Given the description of an element on the screen output the (x, y) to click on. 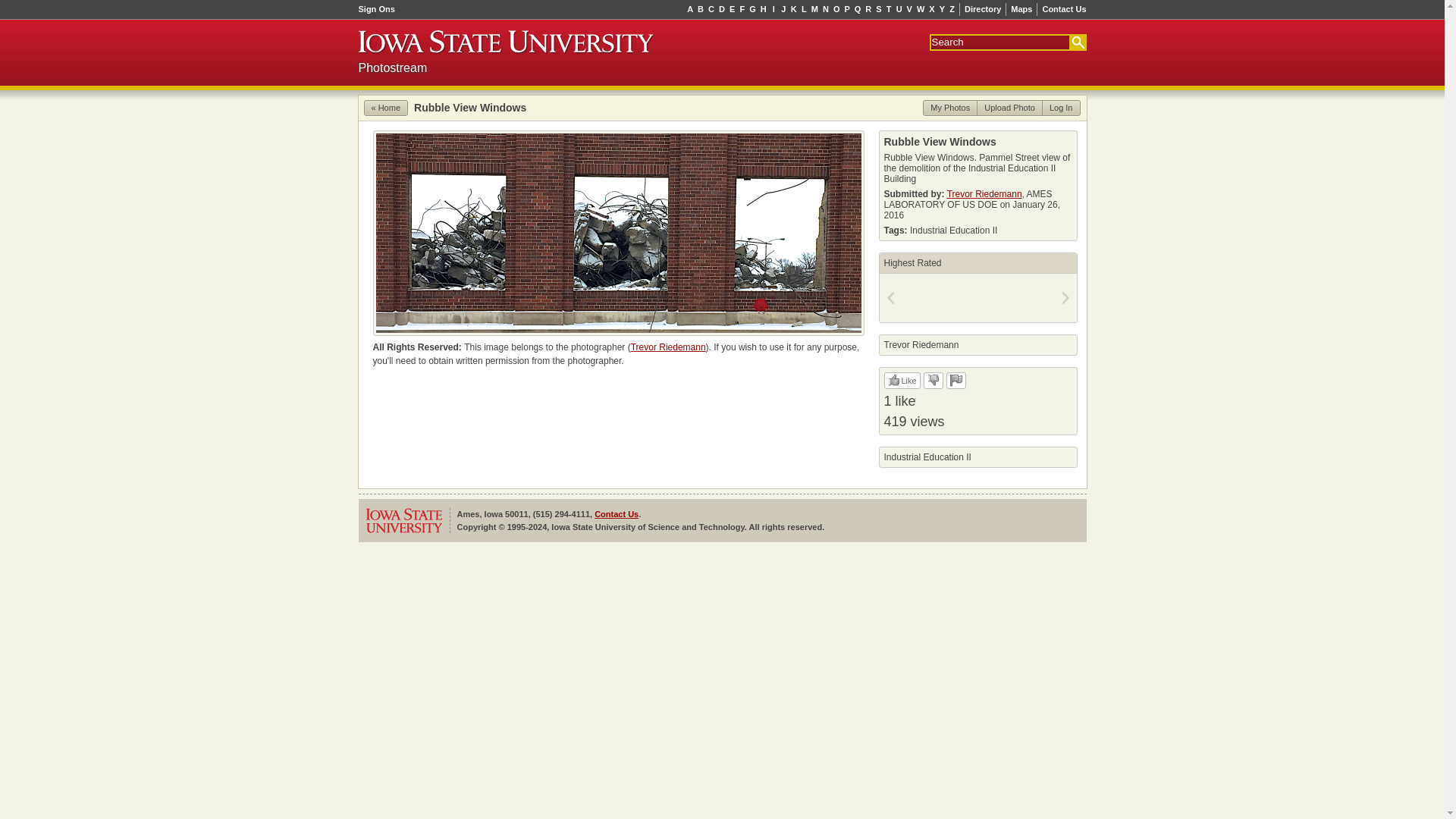
Sign Ons (378, 9)
Upload Photo (1009, 107)
My Photos (949, 107)
Like (901, 379)
Flag (956, 379)
Contact Us (1061, 9)
Search (1077, 41)
Directory (982, 9)
Log In (1061, 107)
Trevor Riedemann (984, 193)
W (920, 9)
Dislike (933, 379)
Trevor Riedemann (668, 346)
Photostream (392, 66)
Maps (1021, 9)
